Given the description of an element on the screen output the (x, y) to click on. 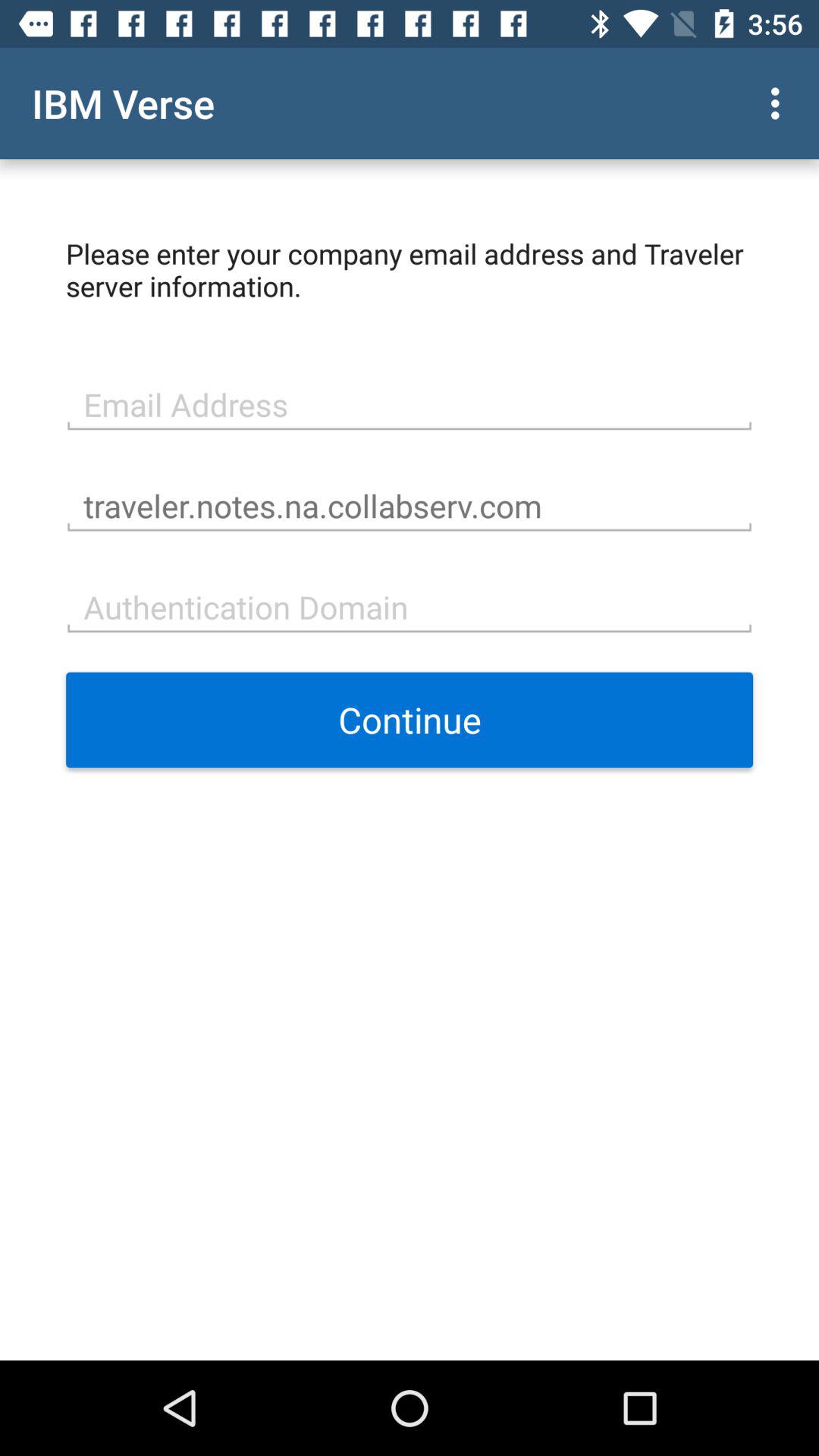
open icon below the traveler notes na item (409, 605)
